Given the description of an element on the screen output the (x, y) to click on. 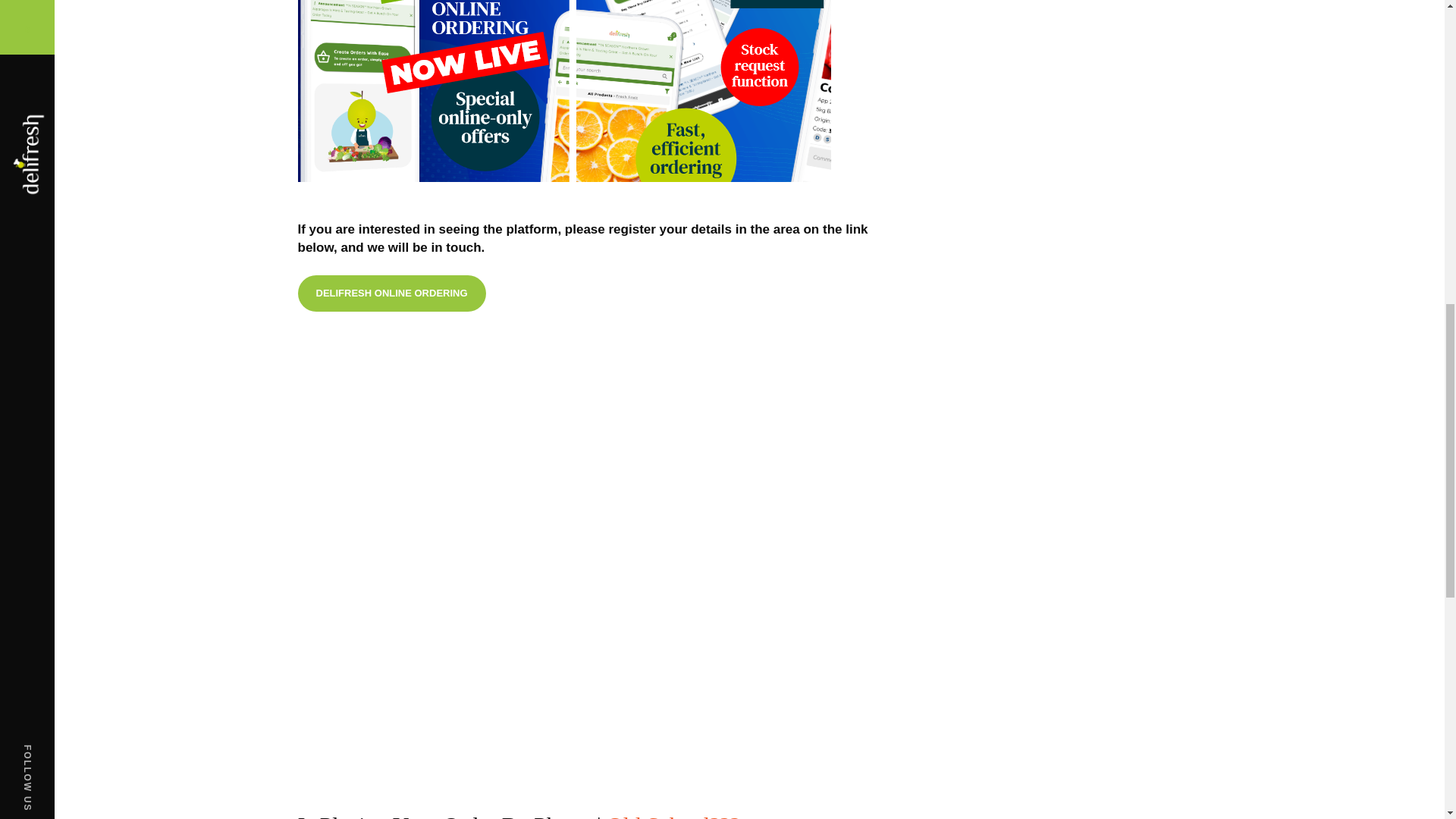
DELIFRESH ONLINE ORDERING (390, 293)
